Given the description of an element on the screen output the (x, y) to click on. 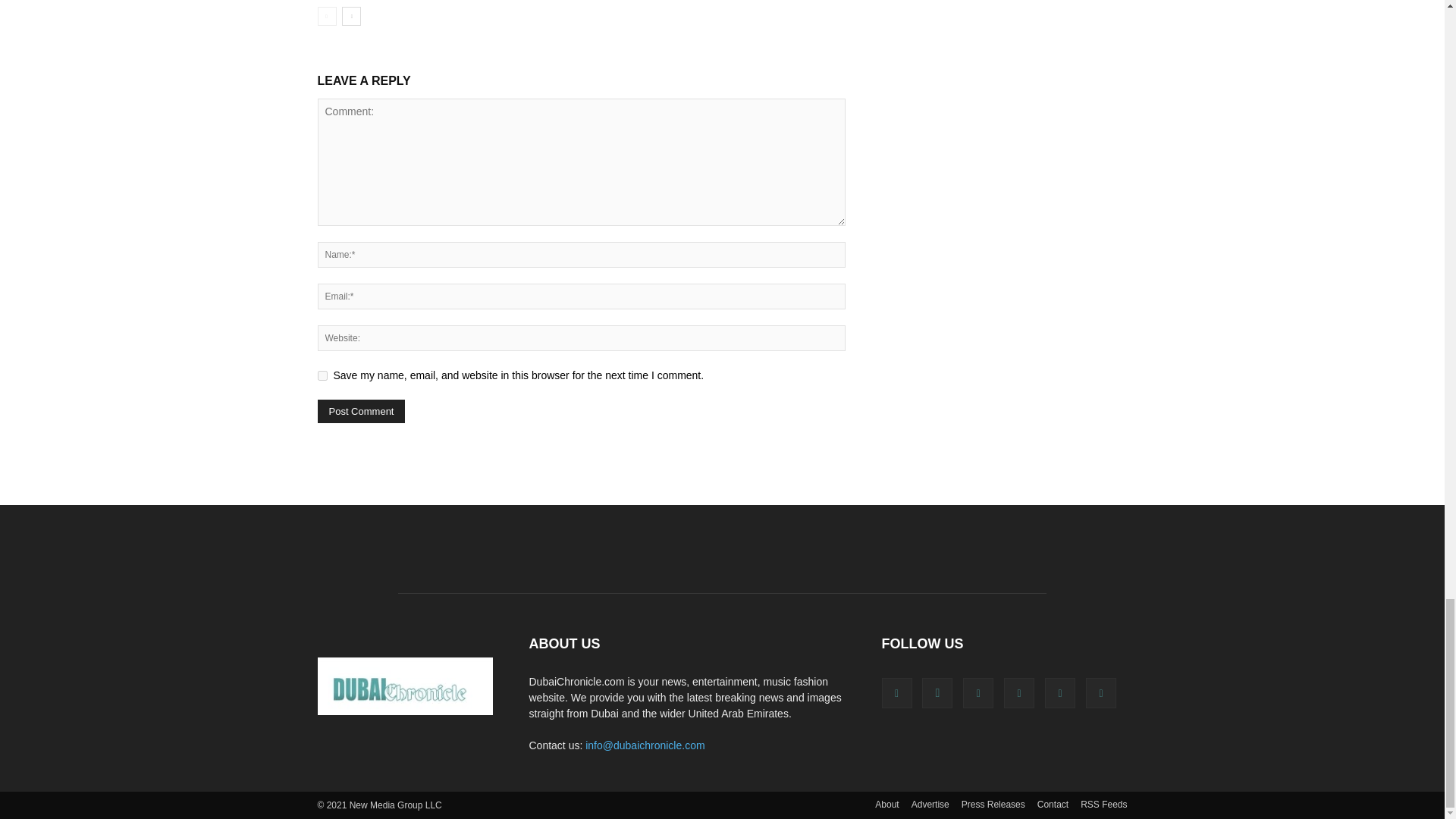
yes (321, 375)
Post Comment (360, 411)
